Given the description of an element on the screen output the (x, y) to click on. 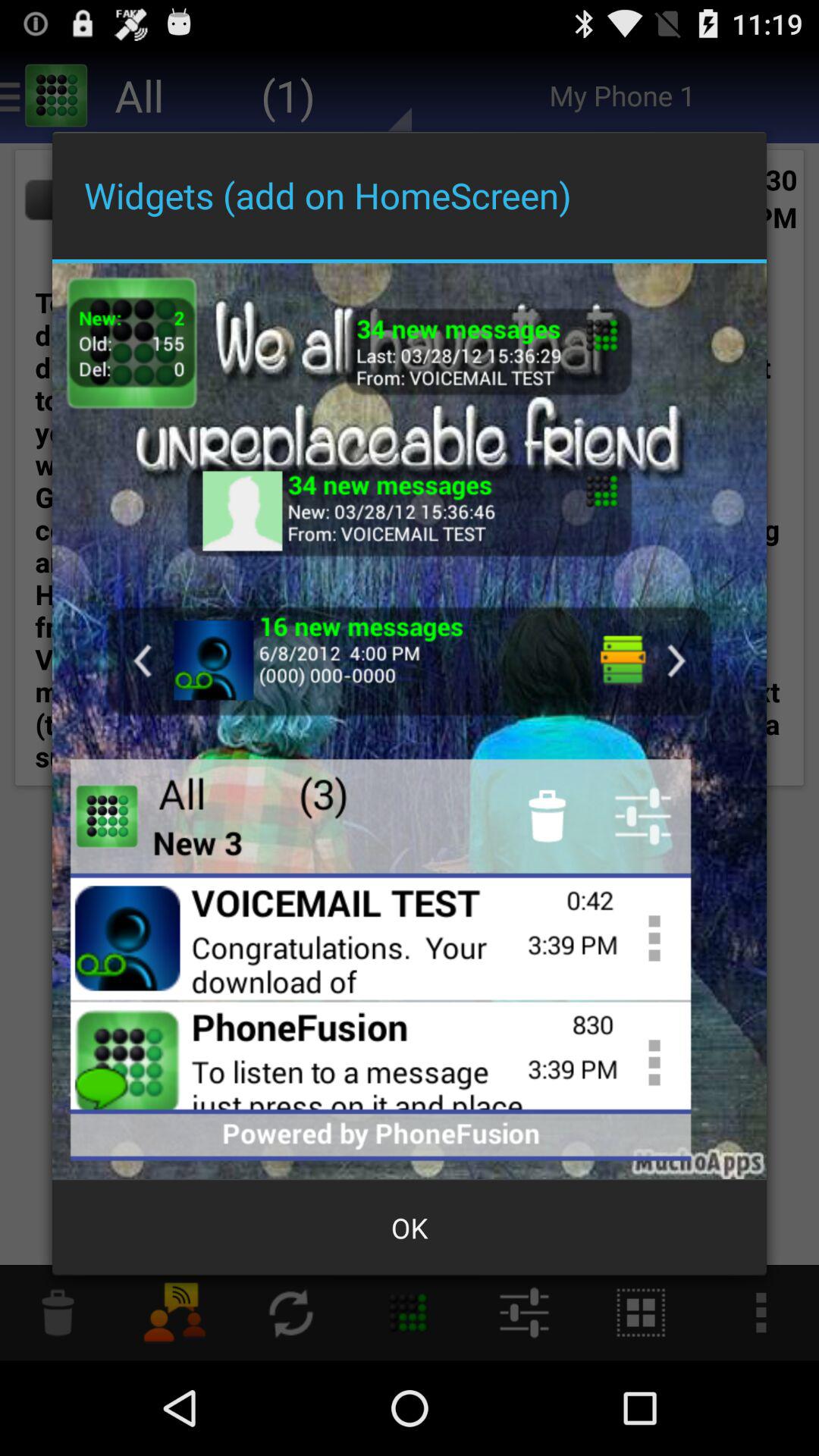
access voicemail (409, 661)
